Given the description of an element on the screen output the (x, y) to click on. 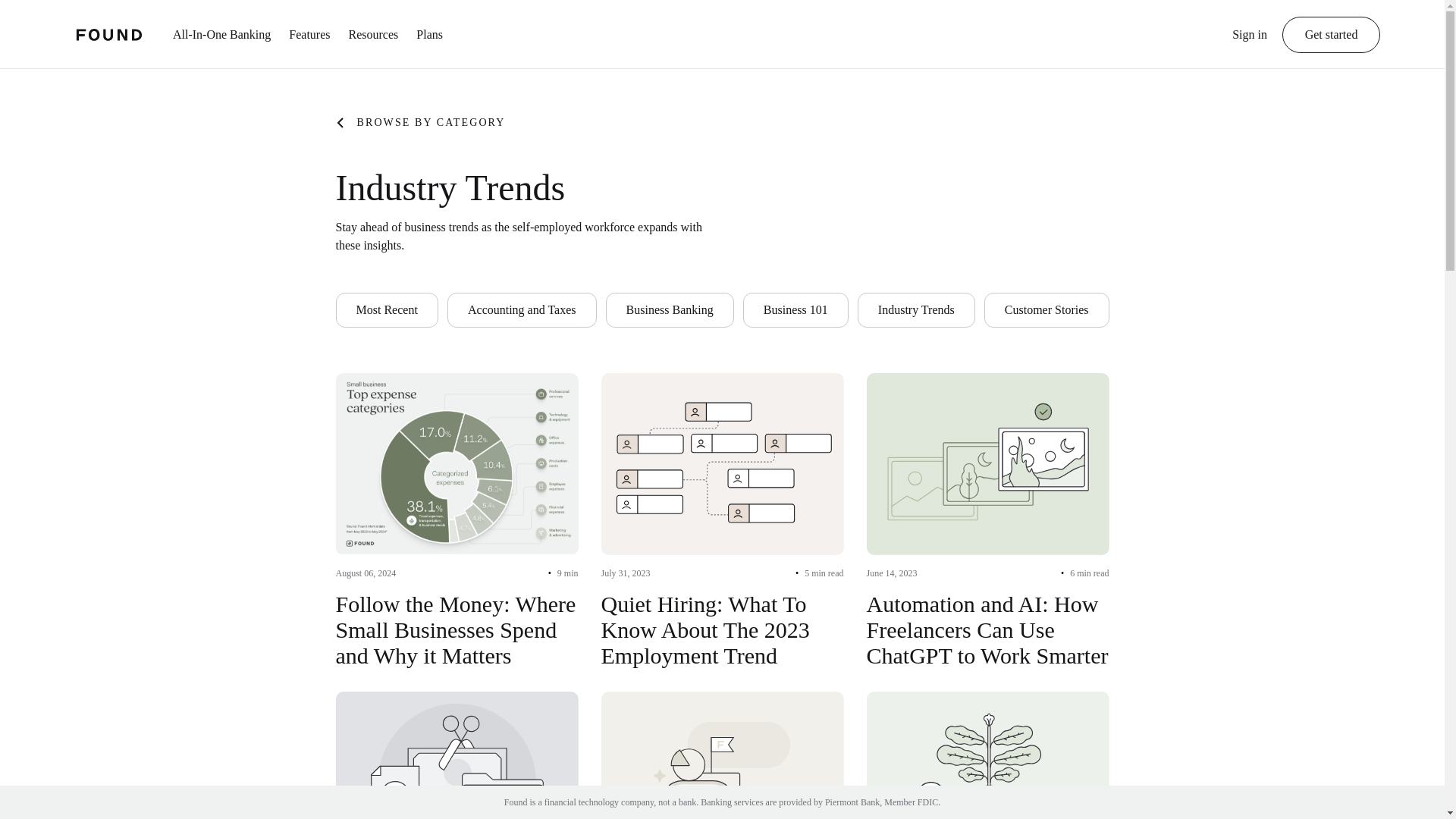
Customer Stories (1046, 309)
Business 101 (795, 309)
Business Banking (669, 309)
Industry Trends (916, 309)
Get started (1331, 34)
Accounting and Taxes (521, 309)
Most Recent (386, 309)
Sign in (1248, 41)
